Given the description of an element on the screen output the (x, y) to click on. 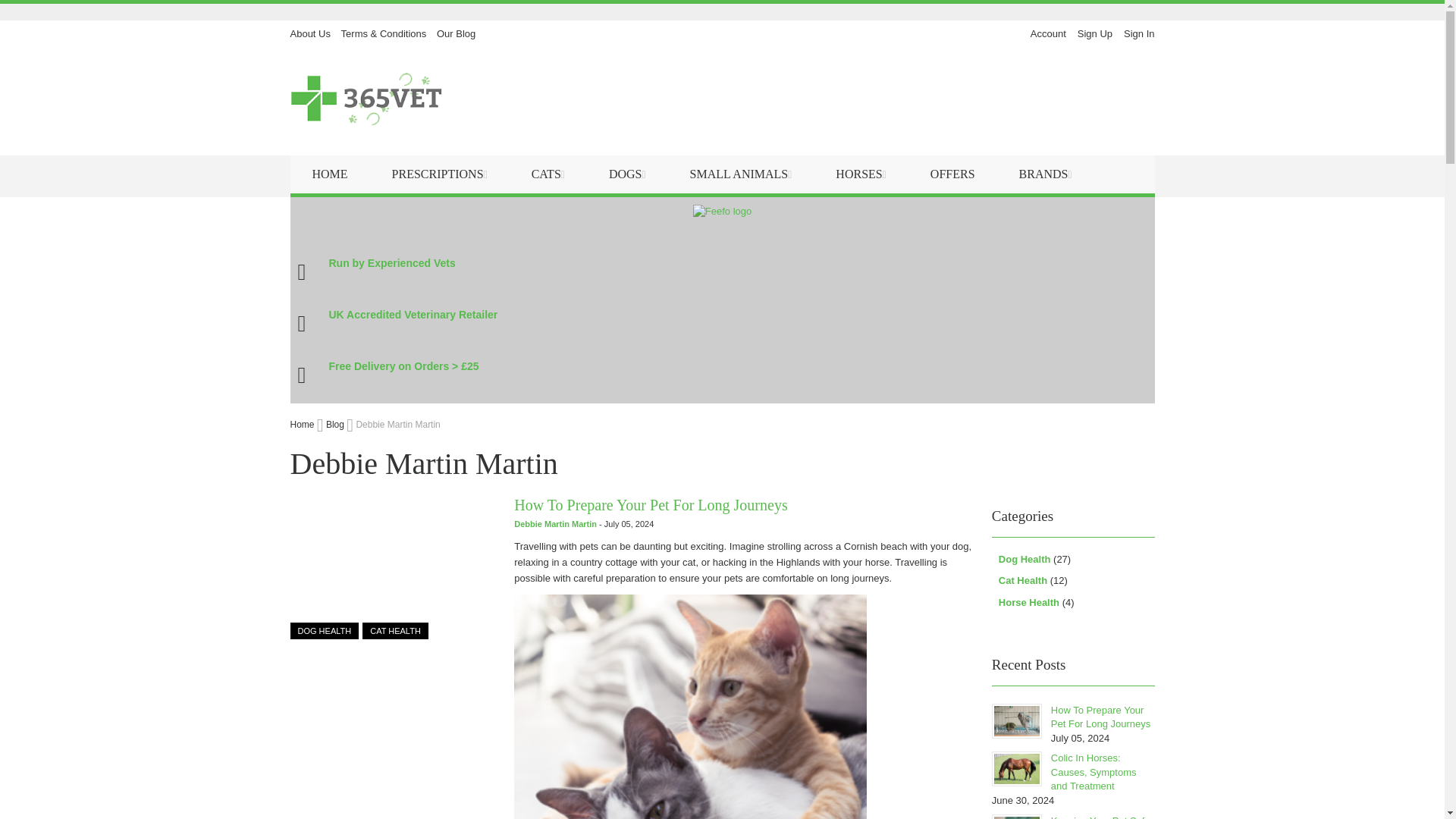
Go to Home Page (302, 424)
Our Blog (456, 33)
Dog Health (323, 630)
DOGS (627, 174)
Account (1047, 33)
HOME (329, 174)
Cat Health (395, 630)
Debbie Martin Martin (555, 523)
About Us (309, 33)
Our customer Feefo rating (722, 211)
Magento Commerce (365, 101)
Sign In (1139, 33)
PRESCRIPTIONS (439, 174)
Blog (336, 424)
How To Prepare Your Pet For Long Journeys (392, 567)
